Given the description of an element on the screen output the (x, y) to click on. 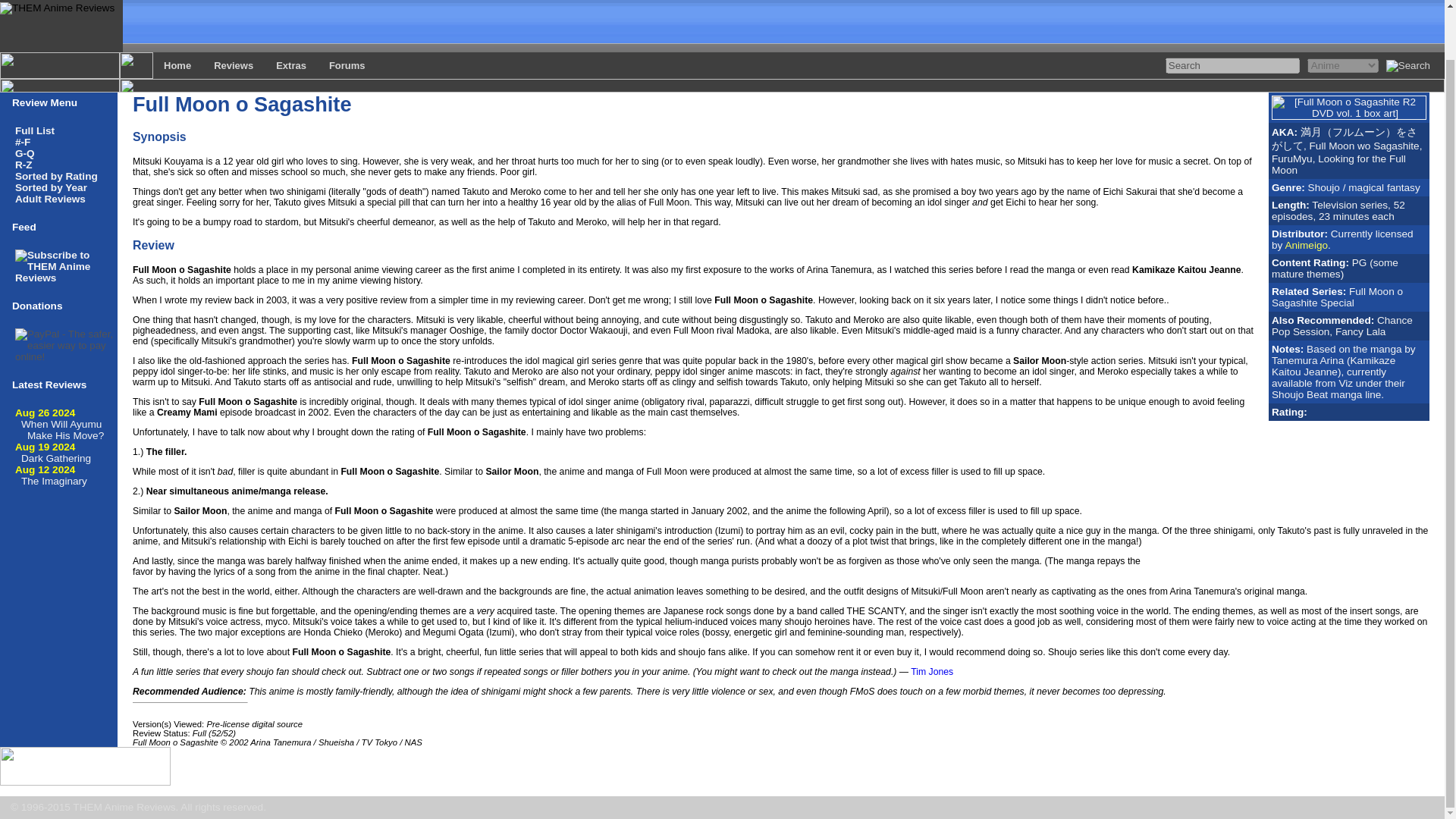
Extras (290, 65)
Dark Gathering (55, 458)
Search (1233, 65)
Sorted by Year (50, 187)
Search (1233, 65)
Reviews (233, 65)
R-Z (23, 164)
Full List (34, 130)
Adult Reviews (49, 198)
Animeigo (1305, 244)
